Given the description of an element on the screen output the (x, y) to click on. 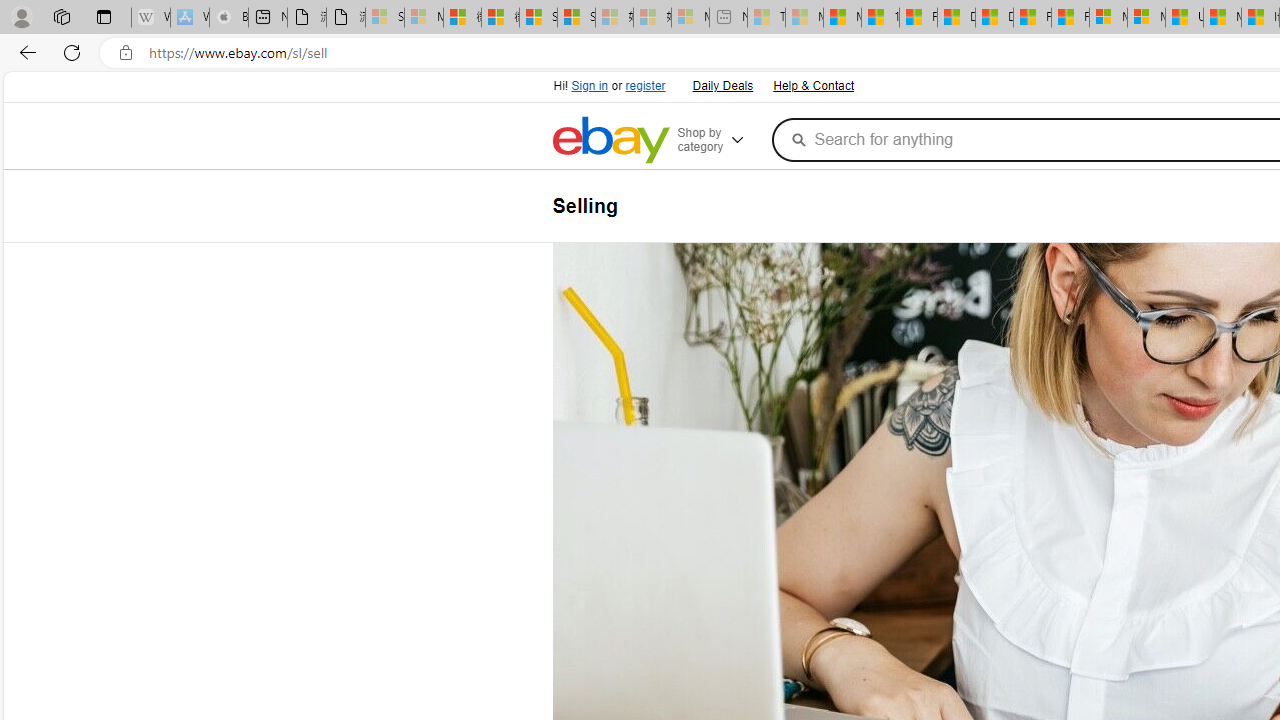
eBay Home (610, 139)
Drinking tea every day is proven to delay biological aging (993, 17)
Daily Deals (722, 86)
eBay Home (610, 139)
Sign in to your Microsoft account - Sleeping (385, 17)
Sign in (589, 85)
register (644, 85)
Daily Deals (721, 84)
Microsoft Services Agreement - Sleeping (423, 17)
